Given the description of an element on the screen output the (x, y) to click on. 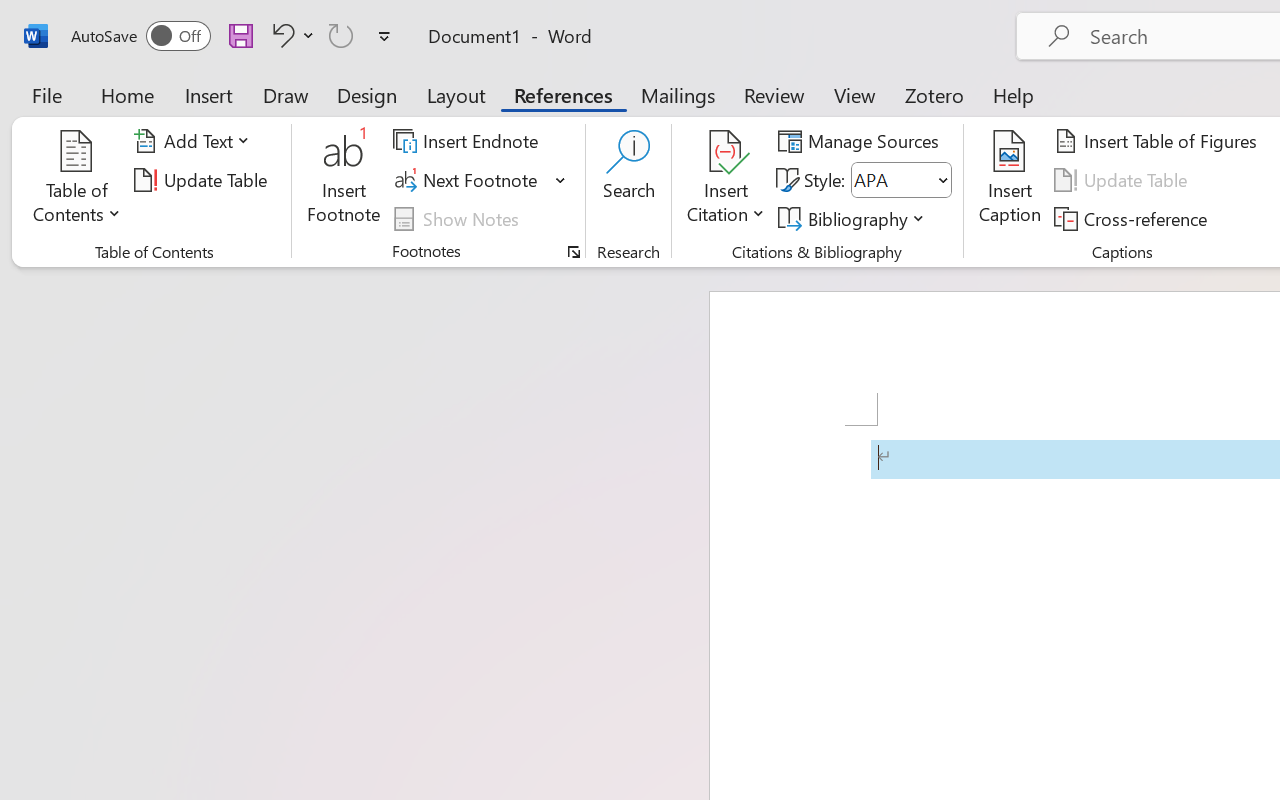
Insert Table of Figures... (1158, 141)
Insert Caption... (1009, 180)
Insert Citation (726, 179)
Table of Contents (77, 179)
Undo Apply Quick Style (290, 35)
Update Table (1124, 179)
Insert Footnote (344, 179)
Search (628, 179)
Update Table... (204, 179)
